Given the description of an element on the screen output the (x, y) to click on. 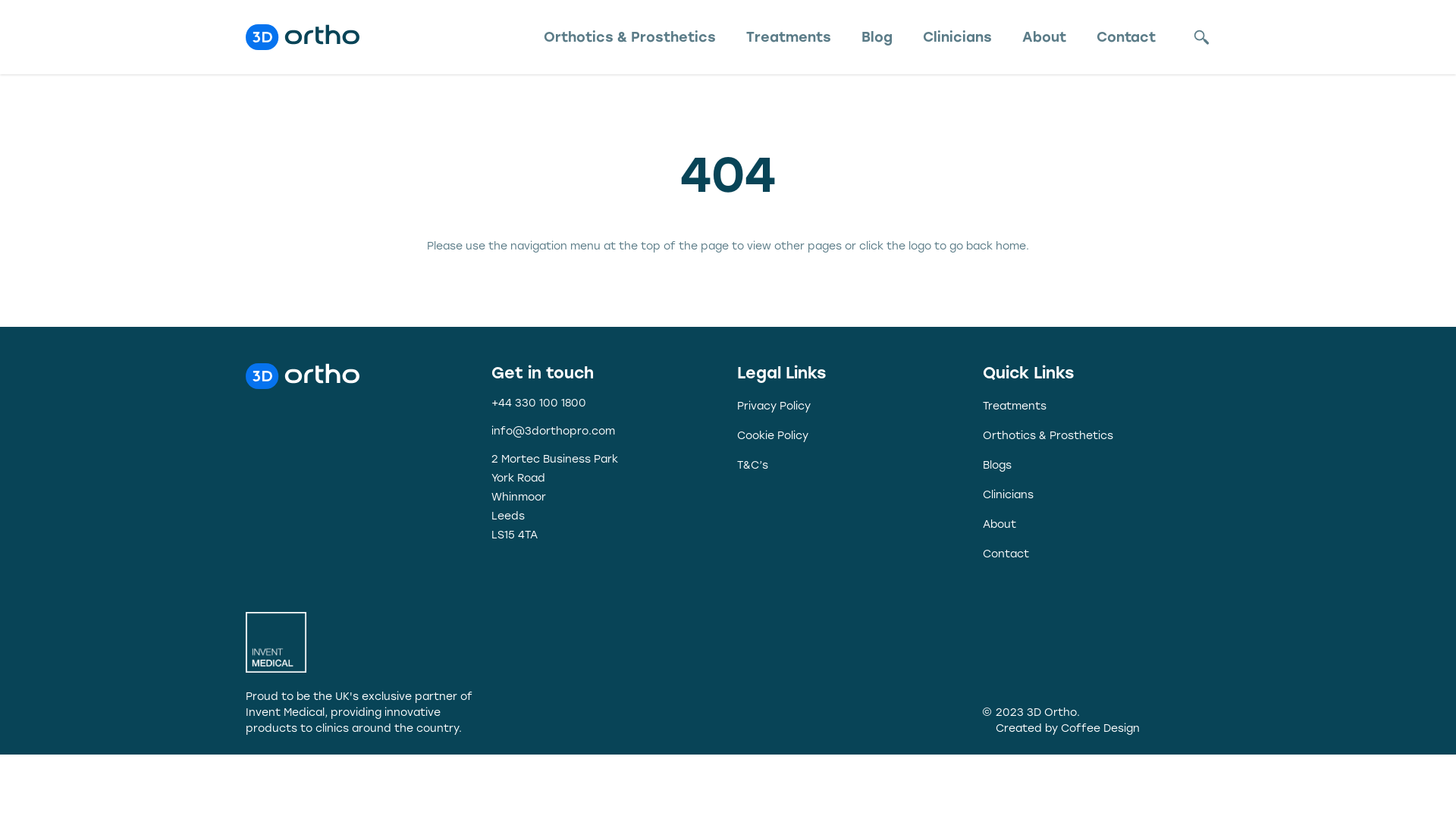
Orthotics & Prosthetics Element type: text (628, 37)
Contact Element type: text (1125, 37)
Treatments Element type: text (1014, 406)
Clinicians Element type: text (1007, 494)
About Element type: text (999, 524)
Privacy Policy Element type: text (773, 406)
info@3dorthopro.com Element type: text (553, 431)
About Element type: text (1044, 37)
Blog Element type: text (876, 37)
+44 330 100 1800 Element type: text (538, 403)
Blogs Element type: text (996, 465)
Clinicians Element type: text (956, 37)
Orthotics & Prosthetics Element type: text (1047, 435)
Created by Coffee Design Element type: text (1067, 728)
Treatments Element type: text (788, 37)
Contact Element type: text (1005, 553)
Cookie Policy Element type: text (772, 435)
